Given the description of an element on the screen output the (x, y) to click on. 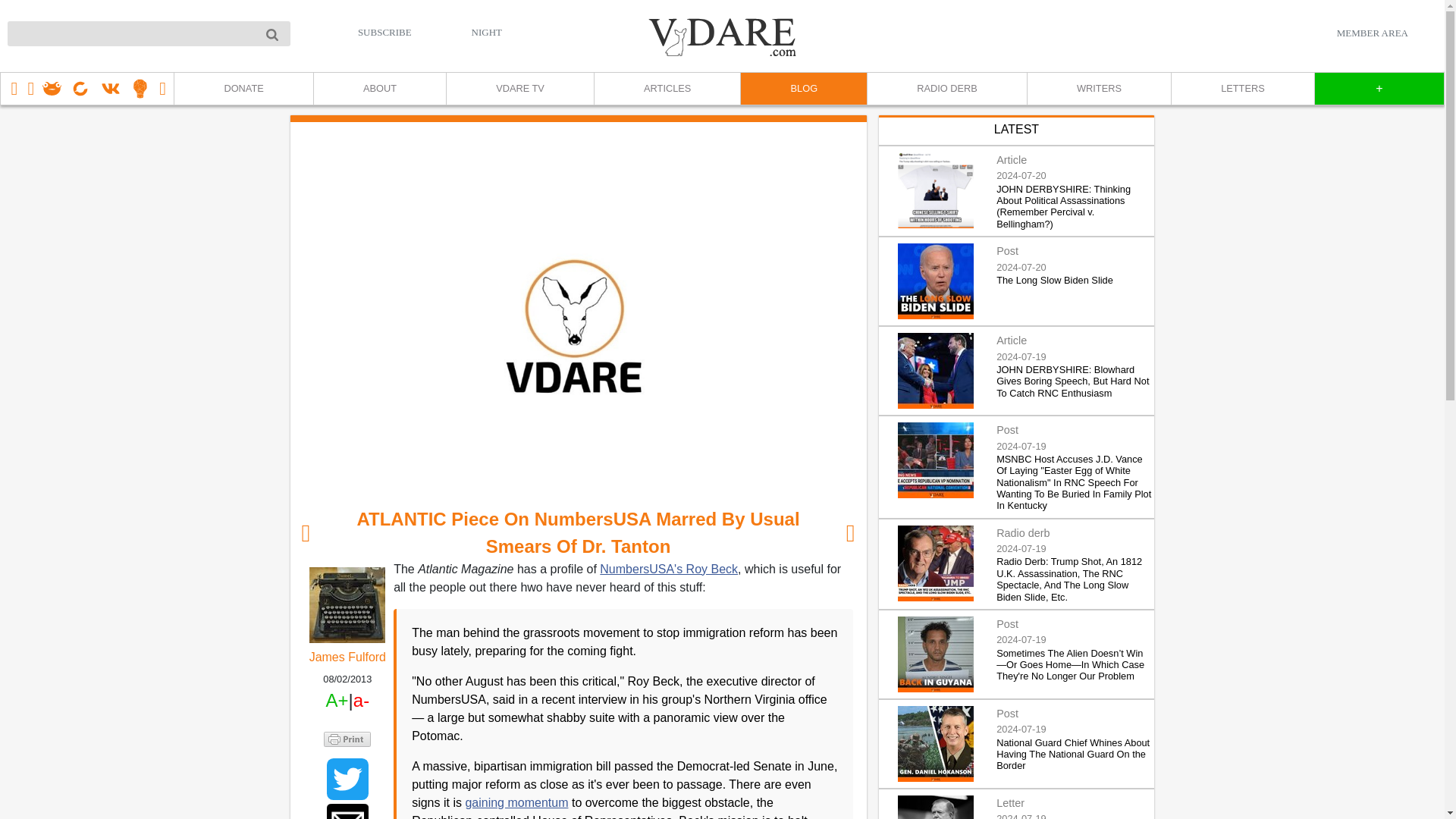
LETTERS (1242, 88)
MEMBER AREA (1371, 32)
Printer Friendly and PDF (347, 737)
VDARE TV (519, 88)
ABOUT (379, 88)
BLOG (802, 88)
Share to Email (347, 811)
SUBSCRIBE (385, 31)
RADIO DERB (946, 88)
Share to Twitter (347, 779)
ARTICLES (666, 88)
DONATE (243, 88)
WRITERS (1098, 88)
